Given the description of an element on the screen output the (x, y) to click on. 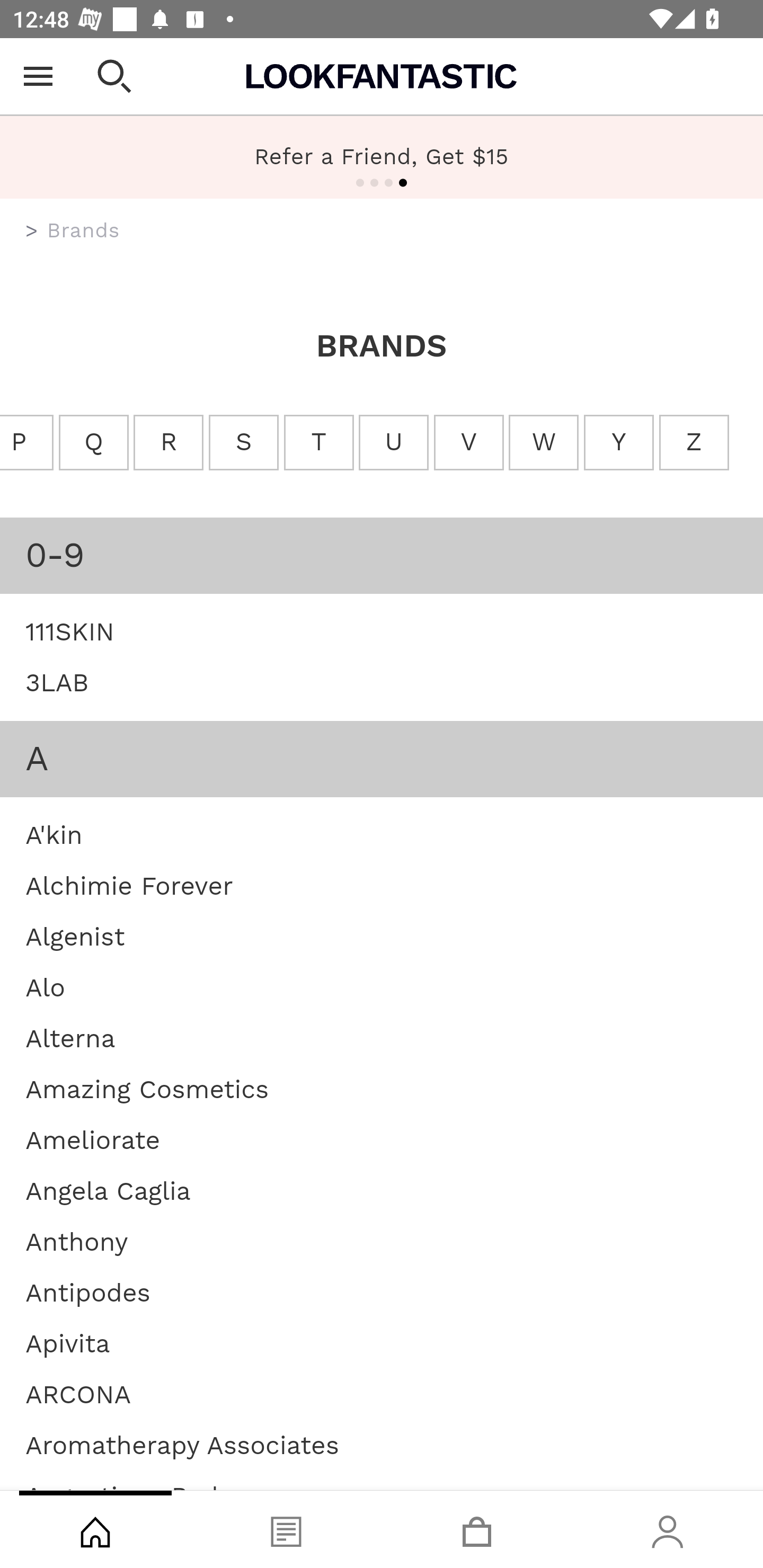
Open Menu (38, 75)
Open search (114, 75)
Lookfantastic USA (381, 75)
us.lookfantastic (32, 230)
P (27, 443)
Q (92, 443)
R (169, 443)
S (244, 443)
T (318, 443)
U (392, 443)
V (467, 443)
W (543, 443)
Y (618, 443)
Z (693, 443)
111SKIN (69, 630)
3LAB (57, 681)
A'kin (53, 833)
Alchimie Forever (129, 884)
Algenist (75, 935)
Alo (46, 986)
Alterna (70, 1037)
Amazing Cosmetics (147, 1087)
Ameliorate (92, 1139)
Angela Caglia (108, 1189)
Anthony (76, 1240)
Antipodes (88, 1291)
Apivita (68, 1342)
ARCONA (78, 1393)
Aromatherapy Associates (182, 1443)
Shop, tab, 1 of 4 (95, 1529)
Blog, tab, 2 of 4 (285, 1529)
Basket, tab, 3 of 4 (476, 1529)
Account, tab, 4 of 4 (667, 1529)
